Given the description of an element on the screen output the (x, y) to click on. 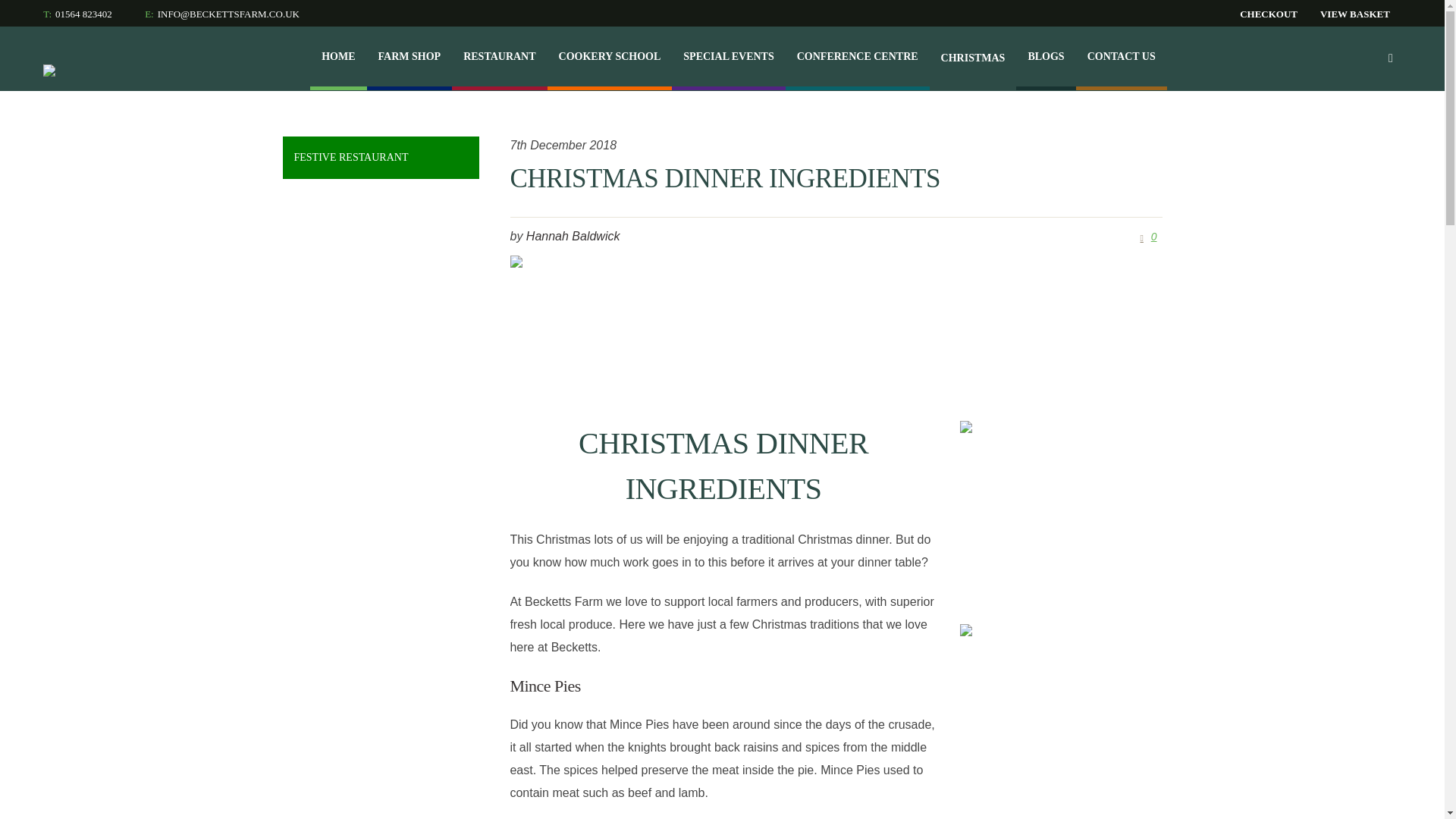
7th December 2018 (562, 145)
T:01564 823402 (77, 14)
COOKERY SCHOOL (609, 56)
Posts by Hannah Baldwick (572, 236)
Call Us (221, 14)
RESTAURANT (499, 56)
HOME (338, 56)
SPECIAL EVENTS (727, 56)
VIEW BASKET (1354, 14)
blog-featured-image (835, 328)
